Given the description of an element on the screen output the (x, y) to click on. 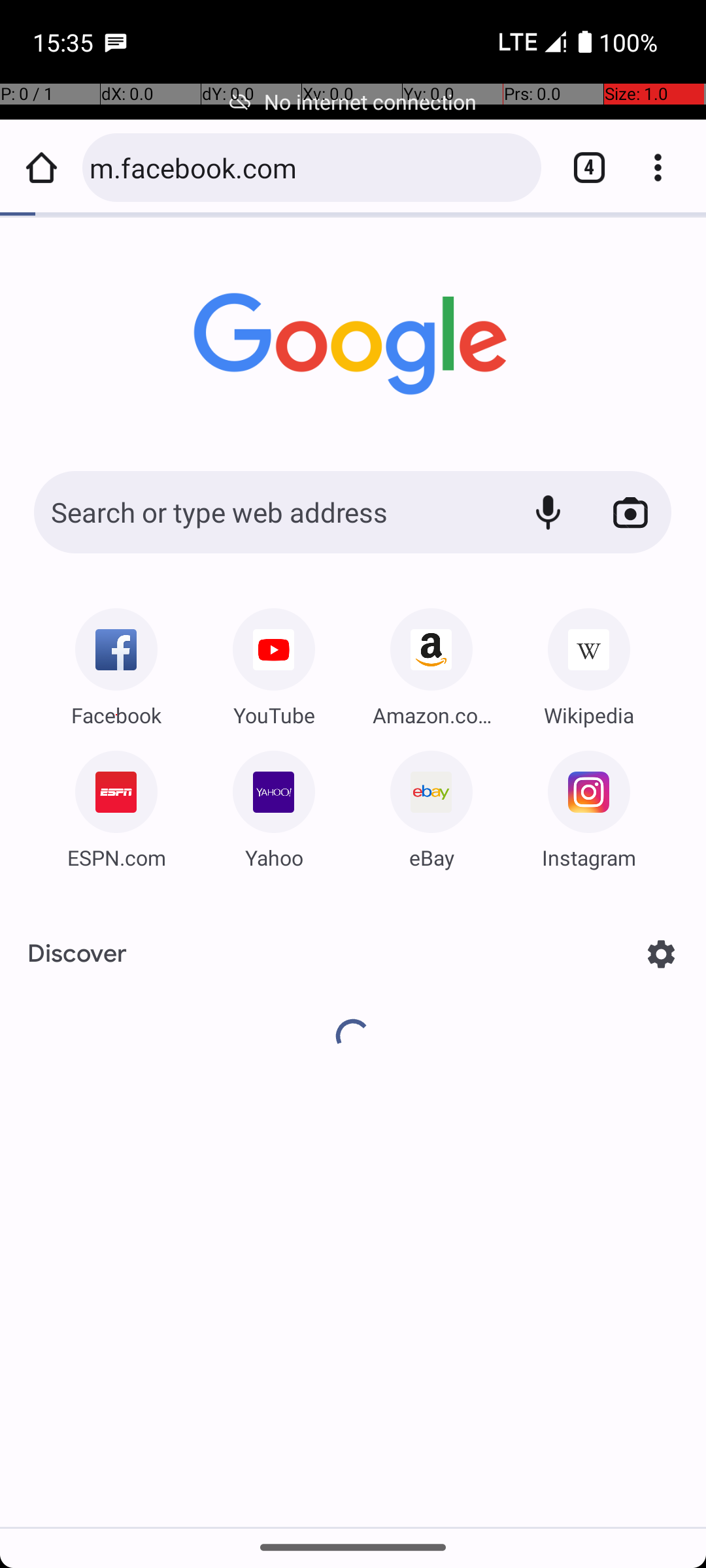
m.facebook.com Element type: android.widget.EditText (308, 167)
